Given the description of an element on the screen output the (x, y) to click on. 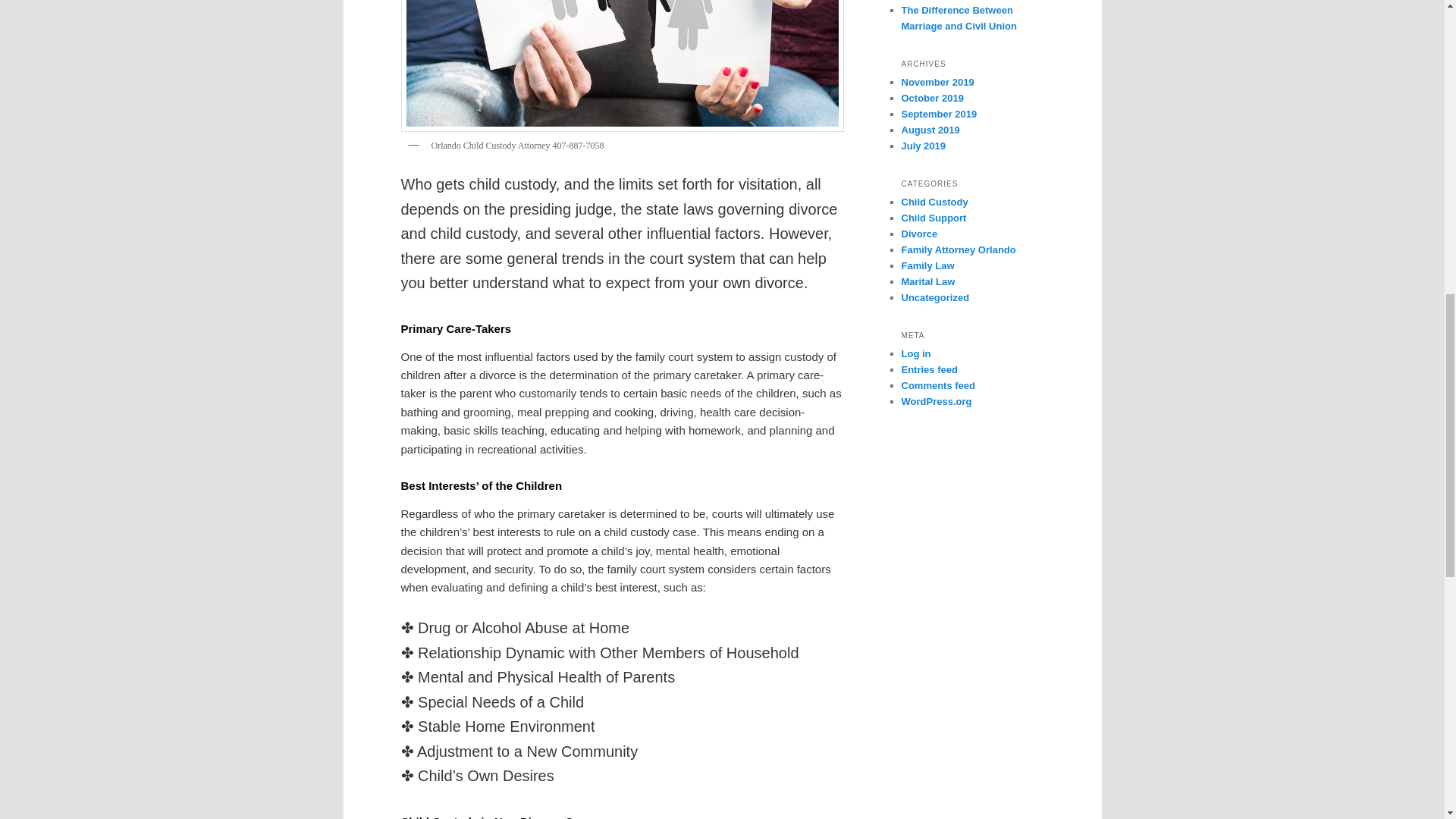
September 2019 (938, 113)
The Difference Between Marriage and Civil Union (958, 17)
Child Support (933, 217)
October 2019 (931, 98)
Family Attorney Orlando (957, 249)
November 2019 (937, 81)
Child Custody (934, 202)
July 2019 (922, 145)
Marital Law (928, 281)
August 2019 (930, 129)
